Given the description of an element on the screen output the (x, y) to click on. 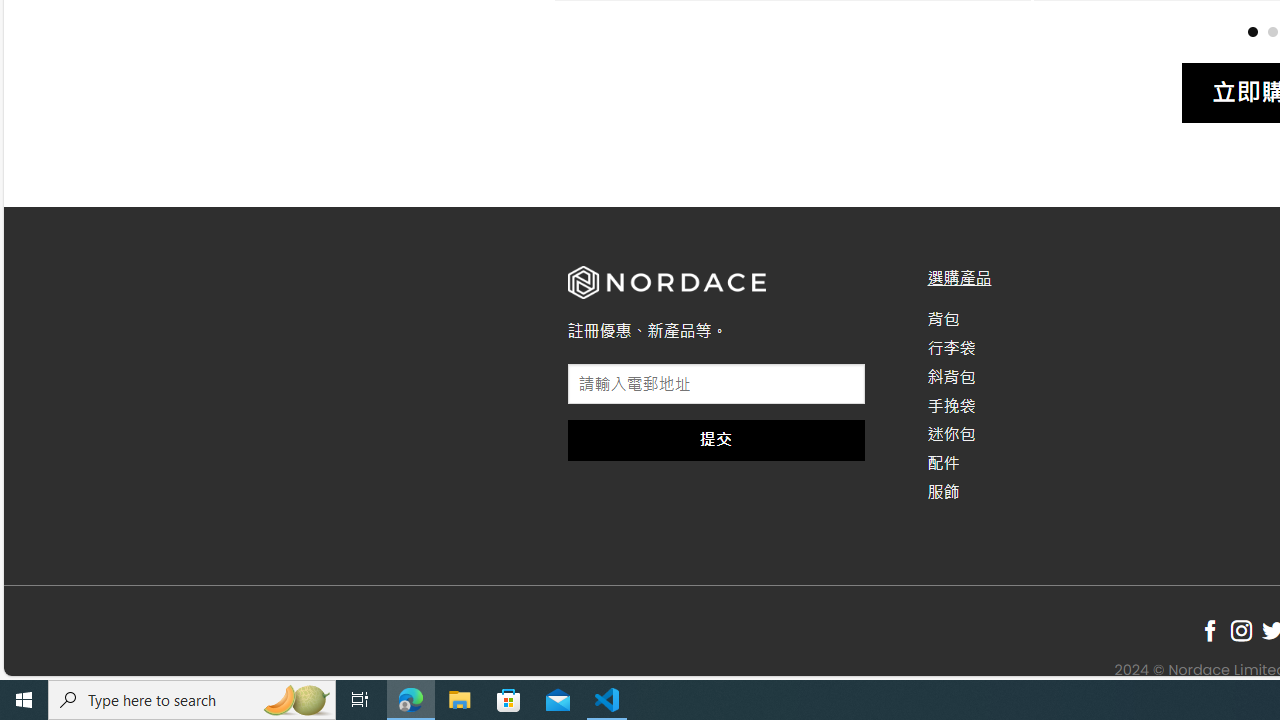
AutomationID: field_4_1 (716, 386)
Page dot 2 (1272, 30)
Page dot 1 (1252, 30)
Follow on Instagram (1241, 631)
